Given the description of an element on the screen output the (x, y) to click on. 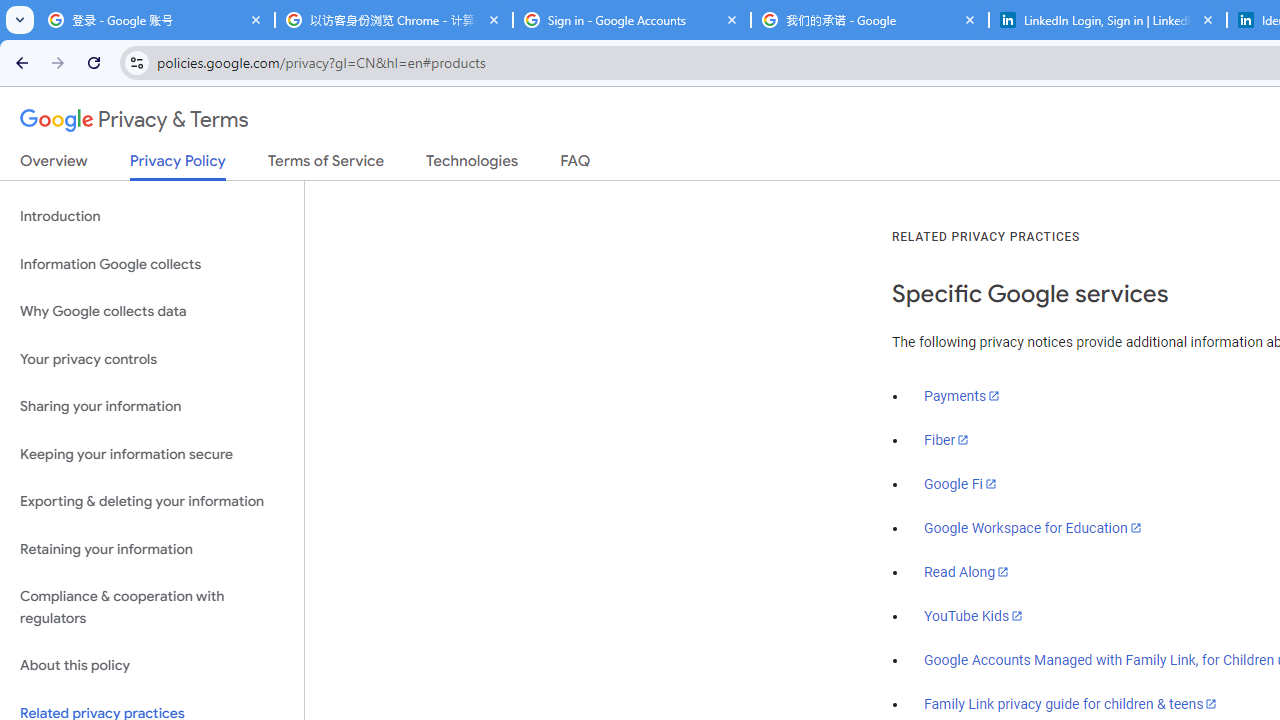
YouTube Kids (974, 615)
LinkedIn Login, Sign in | LinkedIn (1108, 20)
